Given the description of an element on the screen output the (x, y) to click on. 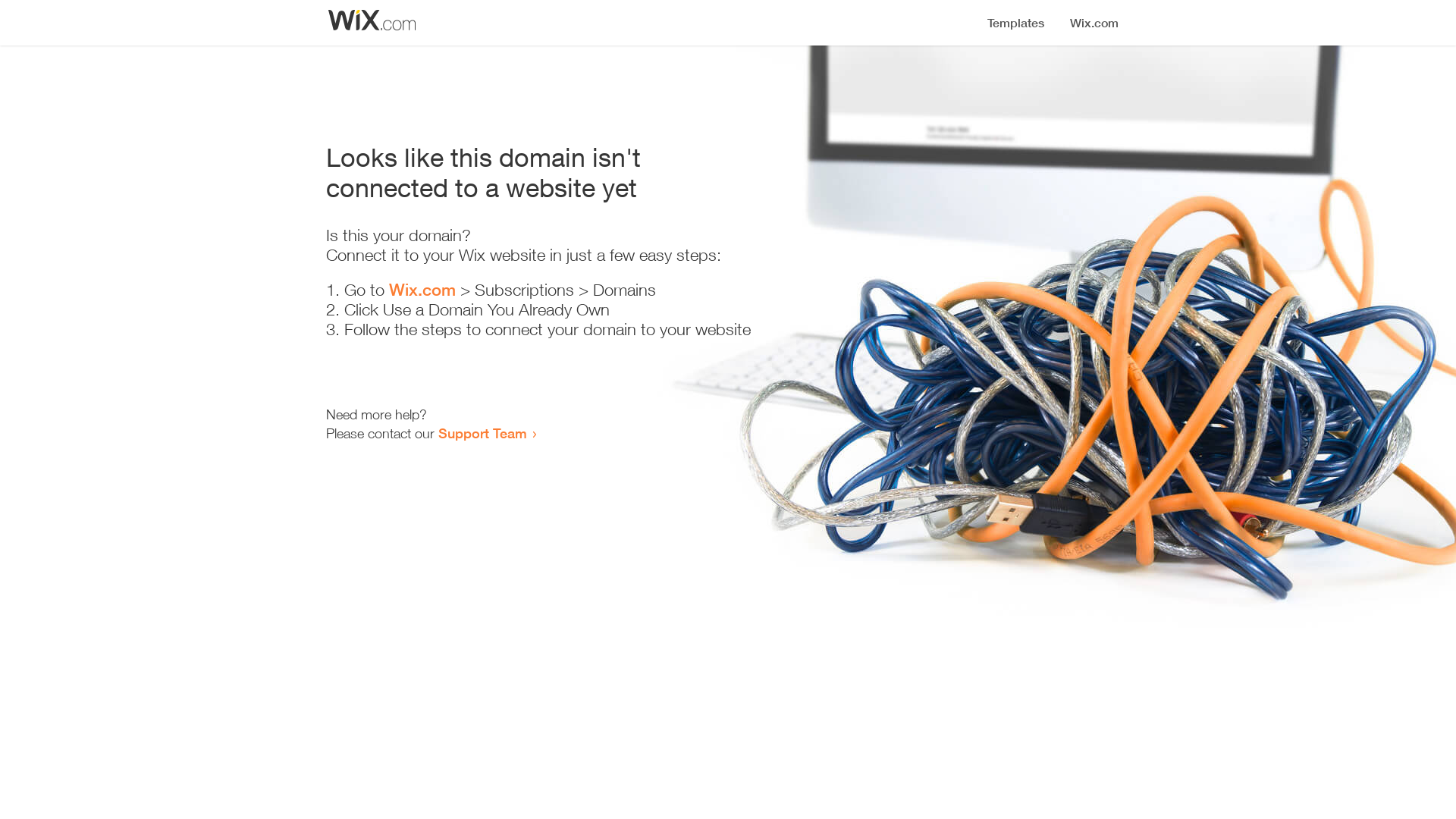
Wix.com Element type: text (422, 289)
Support Team Element type: text (482, 432)
